Given the description of an element on the screen output the (x, y) to click on. 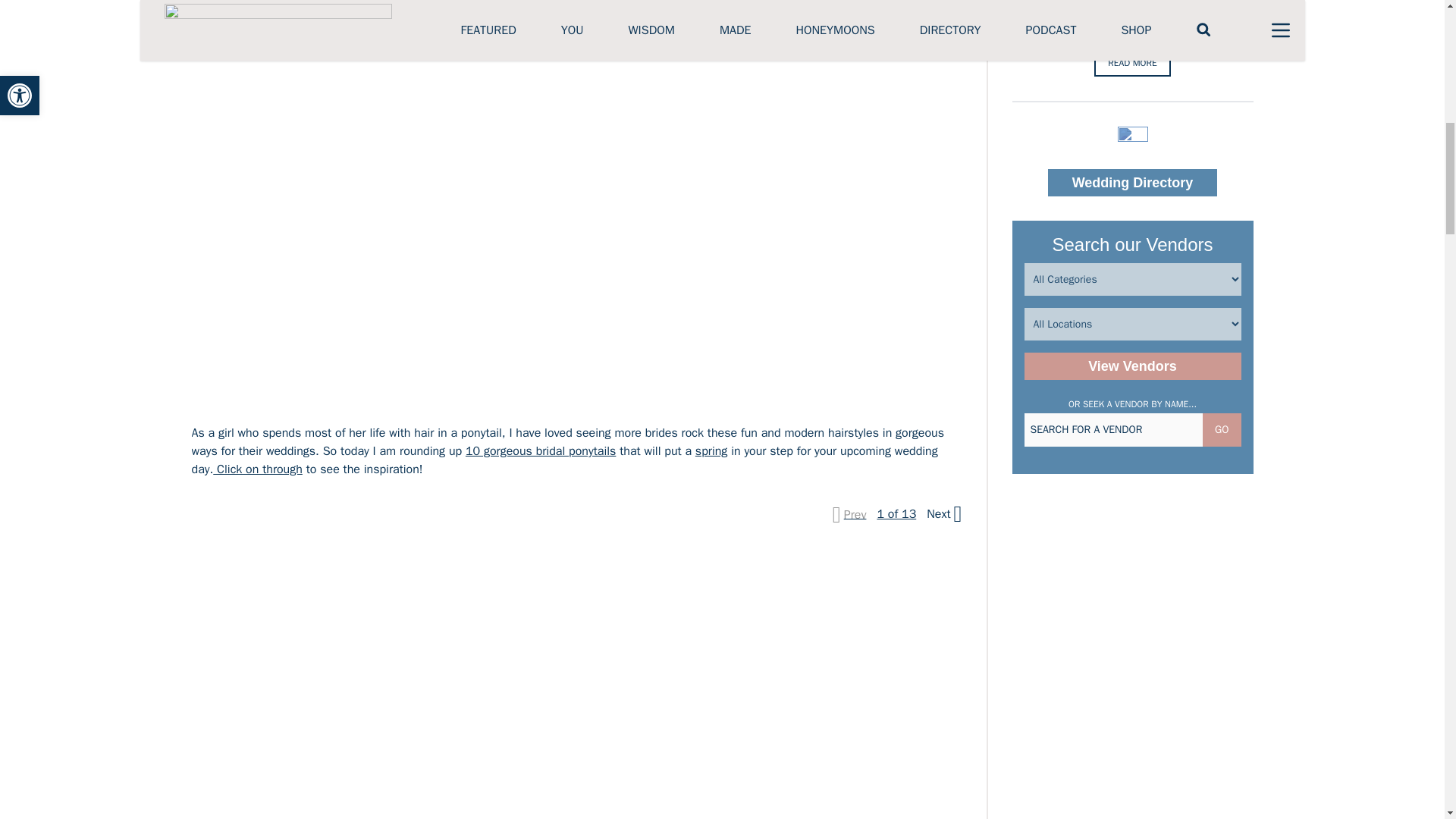
READ MORE (1132, 62)
Prev1 of 13 (877, 514)
Click on through (257, 468)
spring (711, 450)
View Vendors (1131, 365)
Next (941, 513)
GO (1221, 428)
Wedding Directory (1132, 181)
Spring (711, 450)
10 gorgeous bridal ponytails (540, 450)
